Given the description of an element on the screen output the (x, y) to click on. 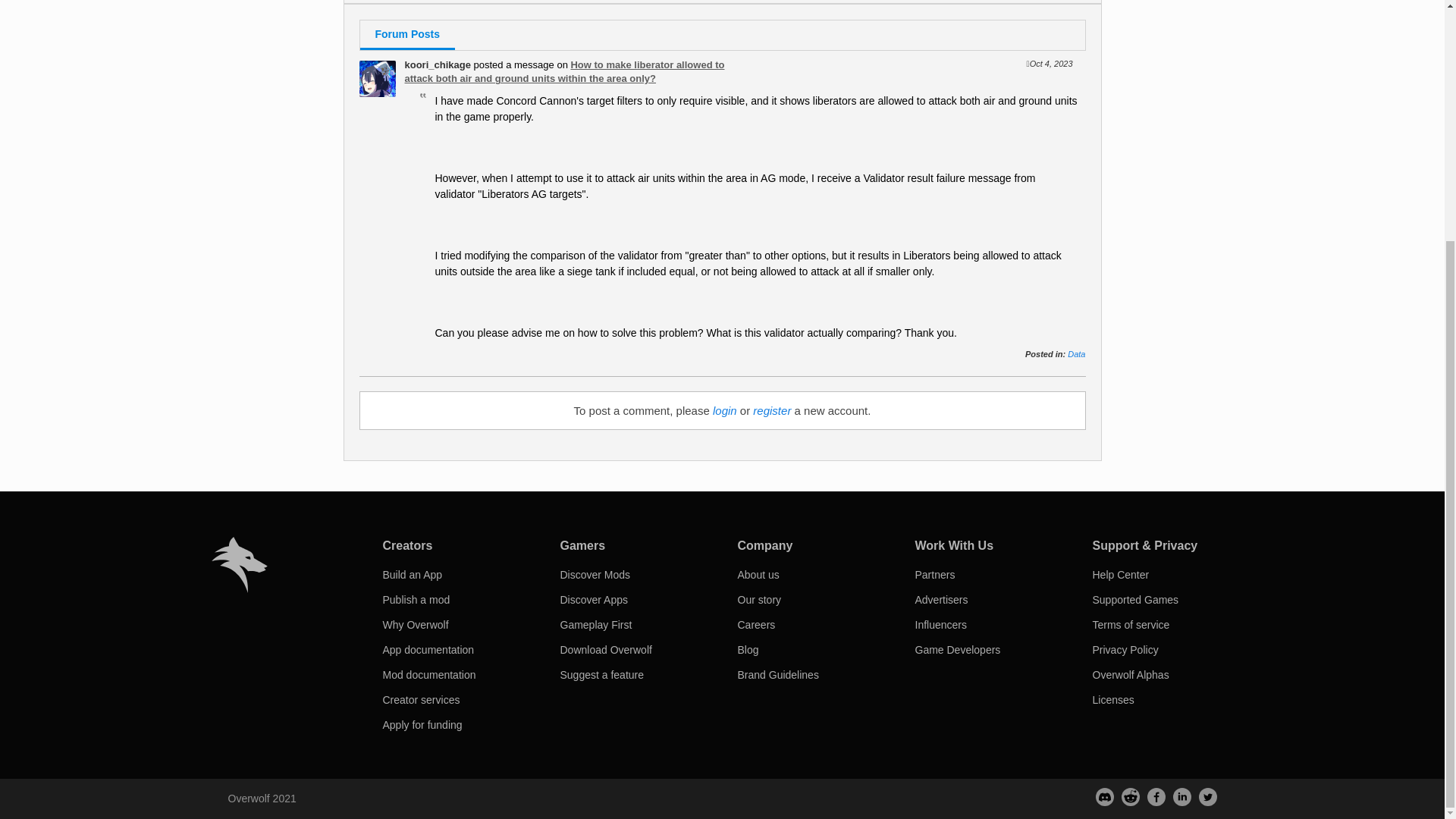
Facebook (1155, 796)
Twitter (1206, 796)
Publish a mod (415, 599)
Discord (1103, 796)
Apply for funding (421, 725)
Mod documentation (428, 674)
Reputation (504, 2)
App documentation (427, 649)
Posts (370, 2)
Why Overwolf (414, 624)
LinkedIn (1181, 796)
login (724, 410)
Creator services (420, 699)
Forum Posts (406, 35)
Discover Mods (594, 574)
